Given the description of an element on the screen output the (x, y) to click on. 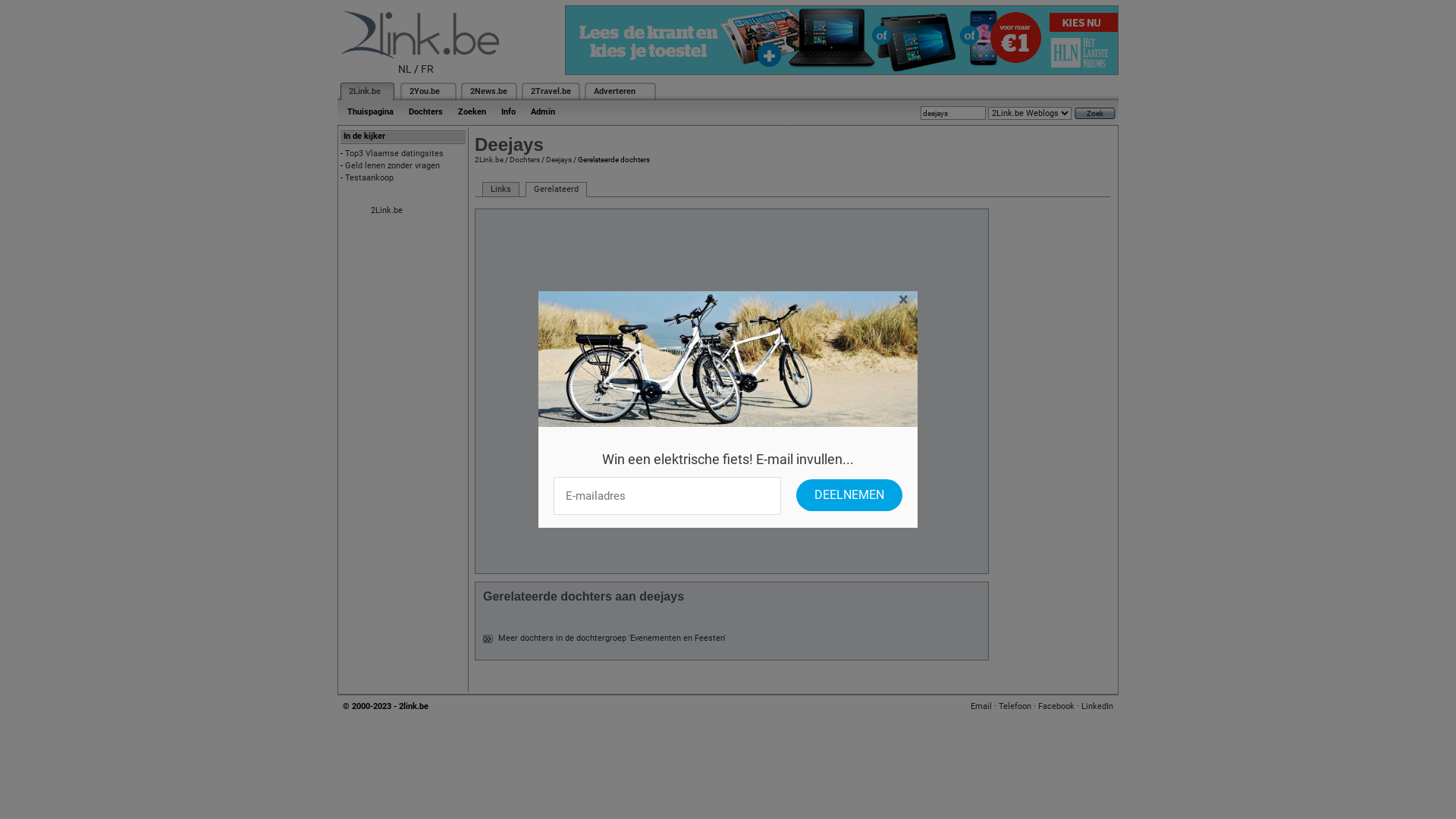
Adverteren Element type: text (614, 91)
2Link.be Element type: text (488, 159)
Facebook Element type: text (1056, 706)
Admin Element type: text (542, 111)
Dochters Element type: text (425, 111)
Gerelateerd Element type: text (555, 189)
Geld lenen zonder vragen Element type: text (392, 165)
Links Element type: text (500, 189)
Info Element type: text (508, 111)
Testaankoop Element type: text (369, 177)
2Travel.be Element type: text (550, 91)
Deejays Element type: text (558, 159)
Thuispagina Element type: text (370, 111)
NL Element type: text (404, 68)
Meer dochters in de dochtergroep 'Evenementen en Feesten' Element type: text (611, 638)
Top3 Vlaamse datingsites Element type: text (394, 153)
LinkedIn Element type: text (1097, 706)
2News.be Element type: text (488, 91)
Dochters Element type: text (524, 159)
FR Element type: text (426, 68)
2Link.be Element type: text (386, 210)
2Link.be Element type: text (364, 91)
Zoek Element type: text (1094, 113)
Zoeken Element type: text (471, 111)
Email Element type: text (980, 706)
2You.be Element type: text (424, 91)
Telefoon Element type: text (1014, 706)
